Given the description of an element on the screen output the (x, y) to click on. 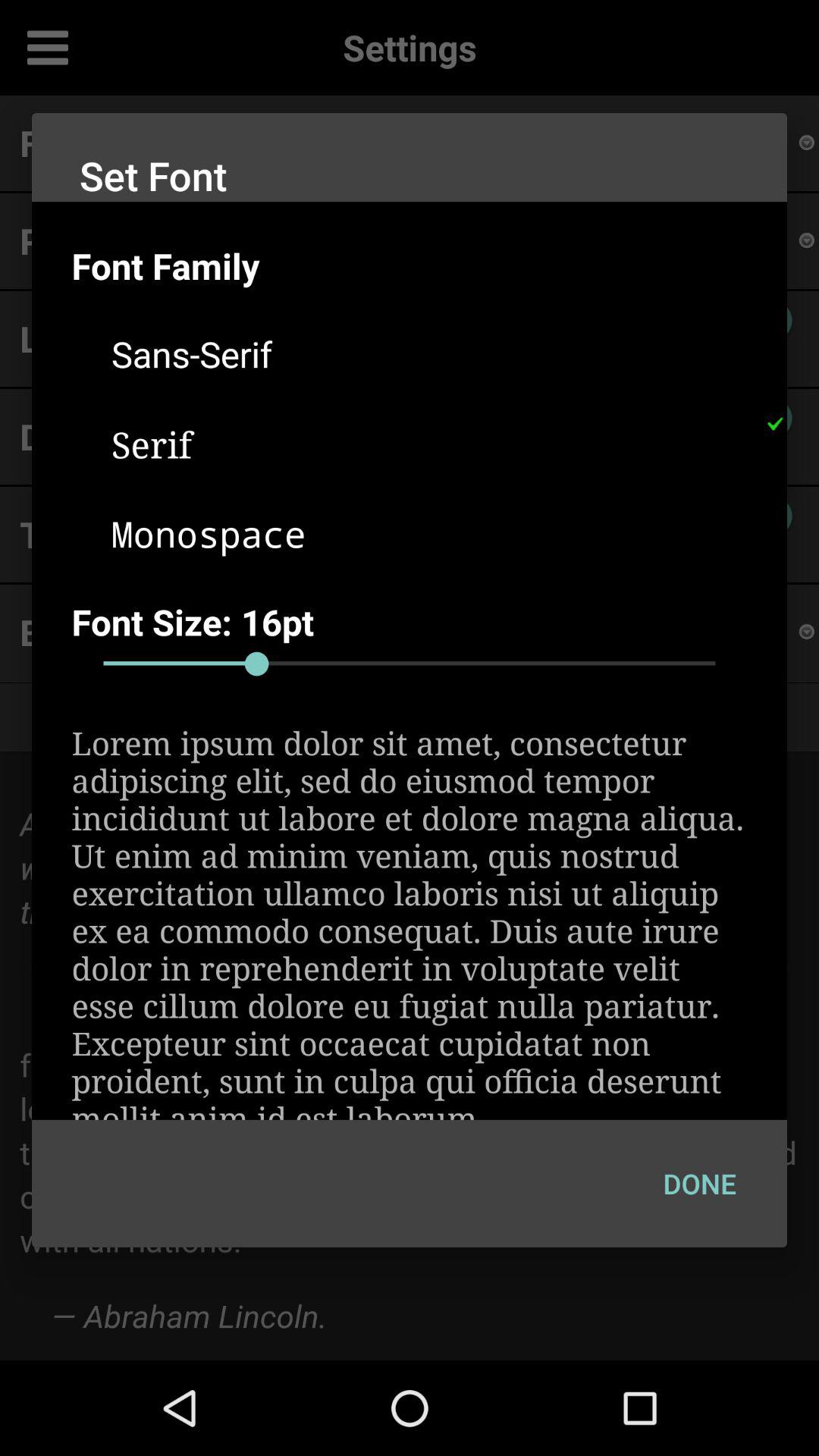
click item below the set font item (429, 265)
